Given the description of an element on the screen output the (x, y) to click on. 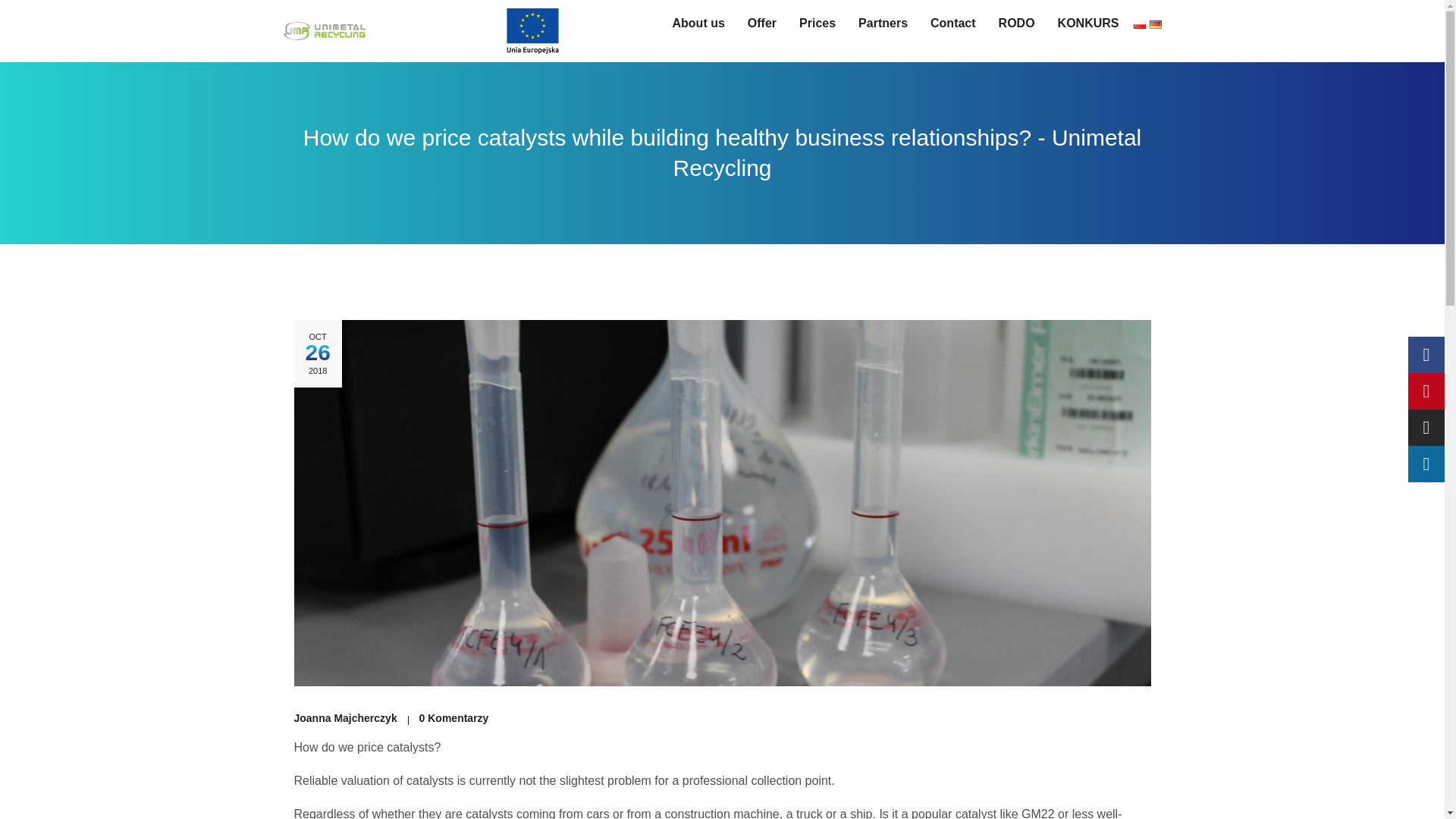
About us (701, 23)
Partners (886, 23)
Prices (821, 23)
0 Komentarzy (454, 717)
RODO (1020, 23)
Contact (957, 23)
Prices (821, 23)
Arctica (324, 31)
Partners (886, 23)
RODO (1020, 23)
KONKURS (1091, 23)
Joanna Majcherczyk (351, 717)
About us (701, 23)
Offer (765, 23)
Contact (957, 23)
